Given the description of an element on the screen output the (x, y) to click on. 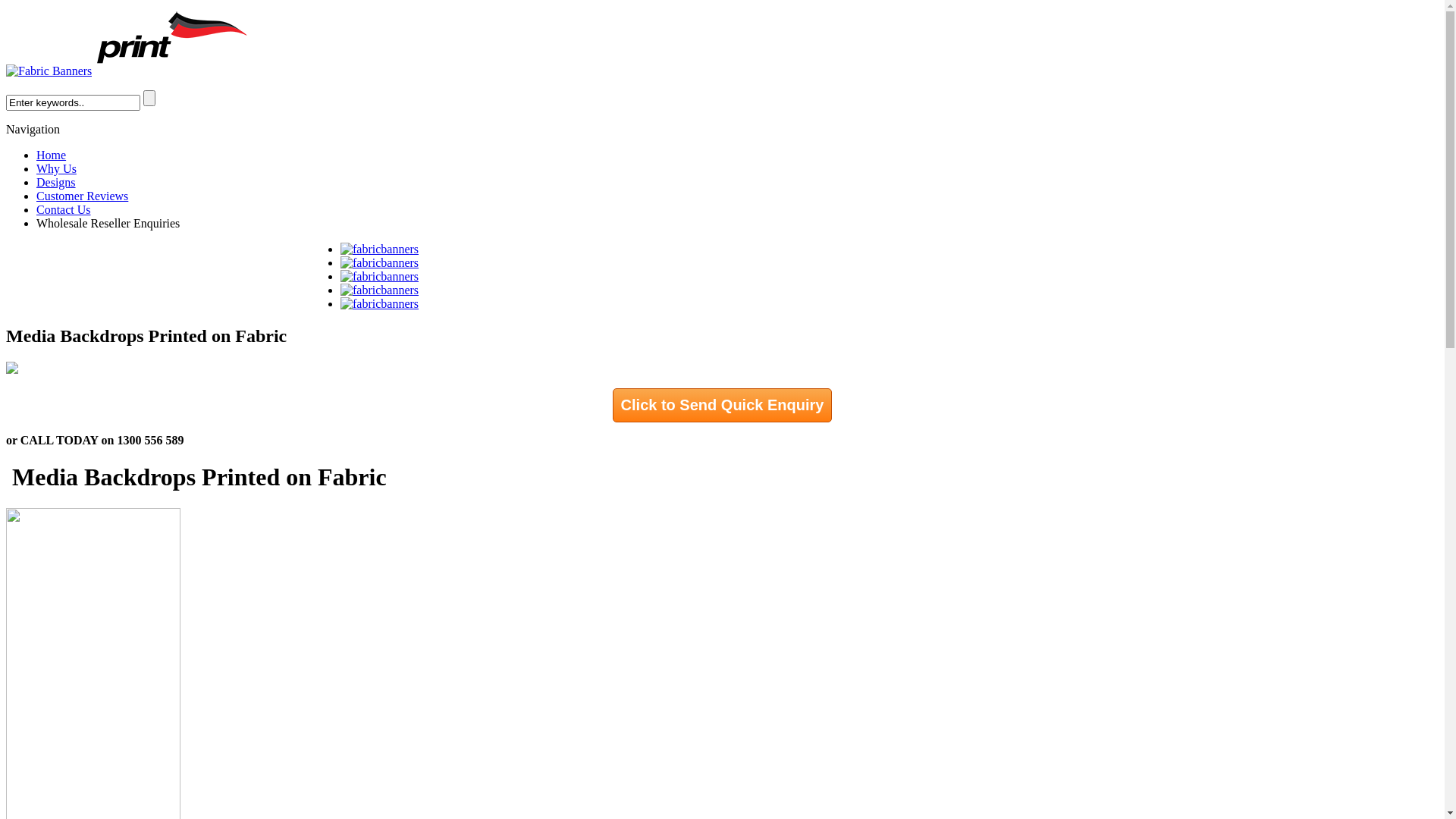
Customer Reviews Element type: text (82, 195)
Why Us Element type: text (56, 168)
Wholesale Reseller Enquiries Element type: text (107, 222)
Contact Us Element type: text (63, 209)
Home Element type: text (50, 154)
Navigation Element type: text (32, 128)
Designs Element type: text (55, 181)
Click to Send Quick Enquiry Element type: text (722, 405)
